Given the description of an element on the screen output the (x, y) to click on. 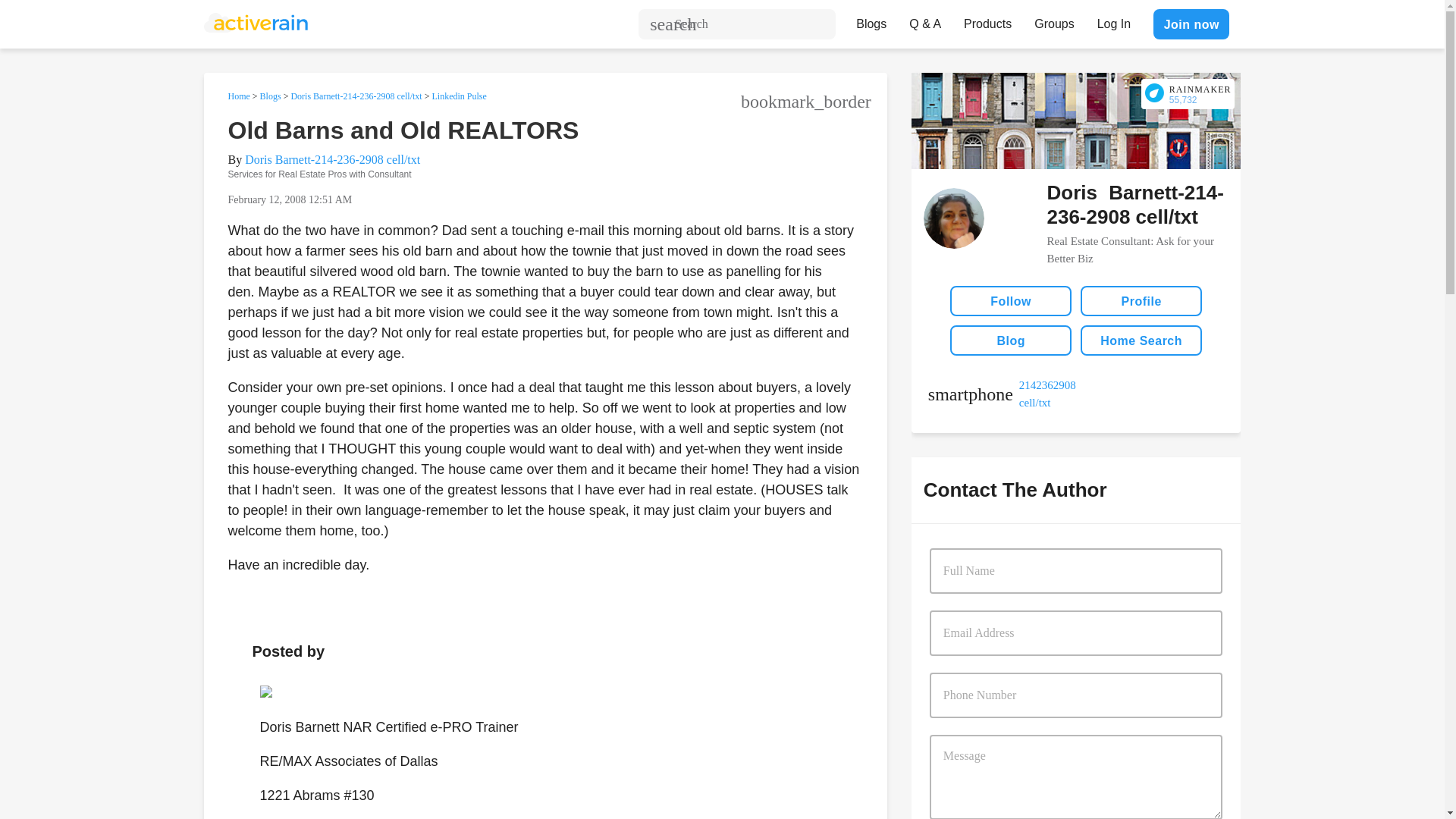
Blogs (270, 95)
Linkedin Pulse (458, 95)
Home (237, 95)
Blogs (870, 19)
Log In (1113, 19)
Products (986, 19)
Groups (1053, 19)
cell (1001, 393)
Join now (1190, 24)
